Given the description of an element on the screen output the (x, y) to click on. 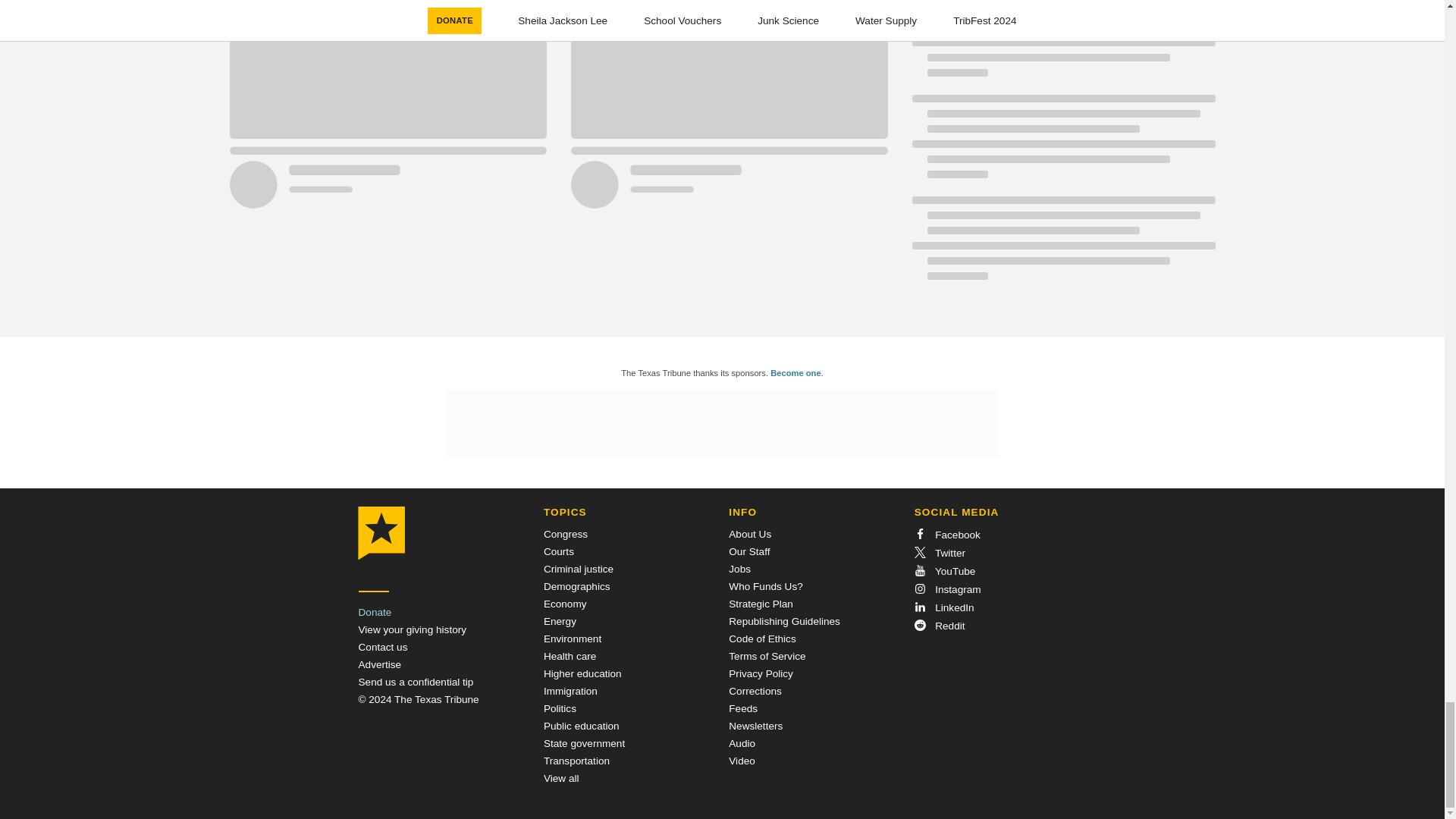
Donate (374, 612)
View your giving history (411, 629)
Advertise (379, 664)
Newsletters (756, 726)
Who Funds Us? (765, 586)
Strategic Plan (761, 603)
Code of Ethics (761, 638)
Audio (742, 743)
Contact us (382, 646)
Terms of Service (767, 655)
Corrections (755, 690)
About Us (750, 533)
Privacy Policy (761, 673)
Send a Tip (415, 681)
Republishing Guidelines (784, 621)
